Given the description of an element on the screen output the (x, y) to click on. 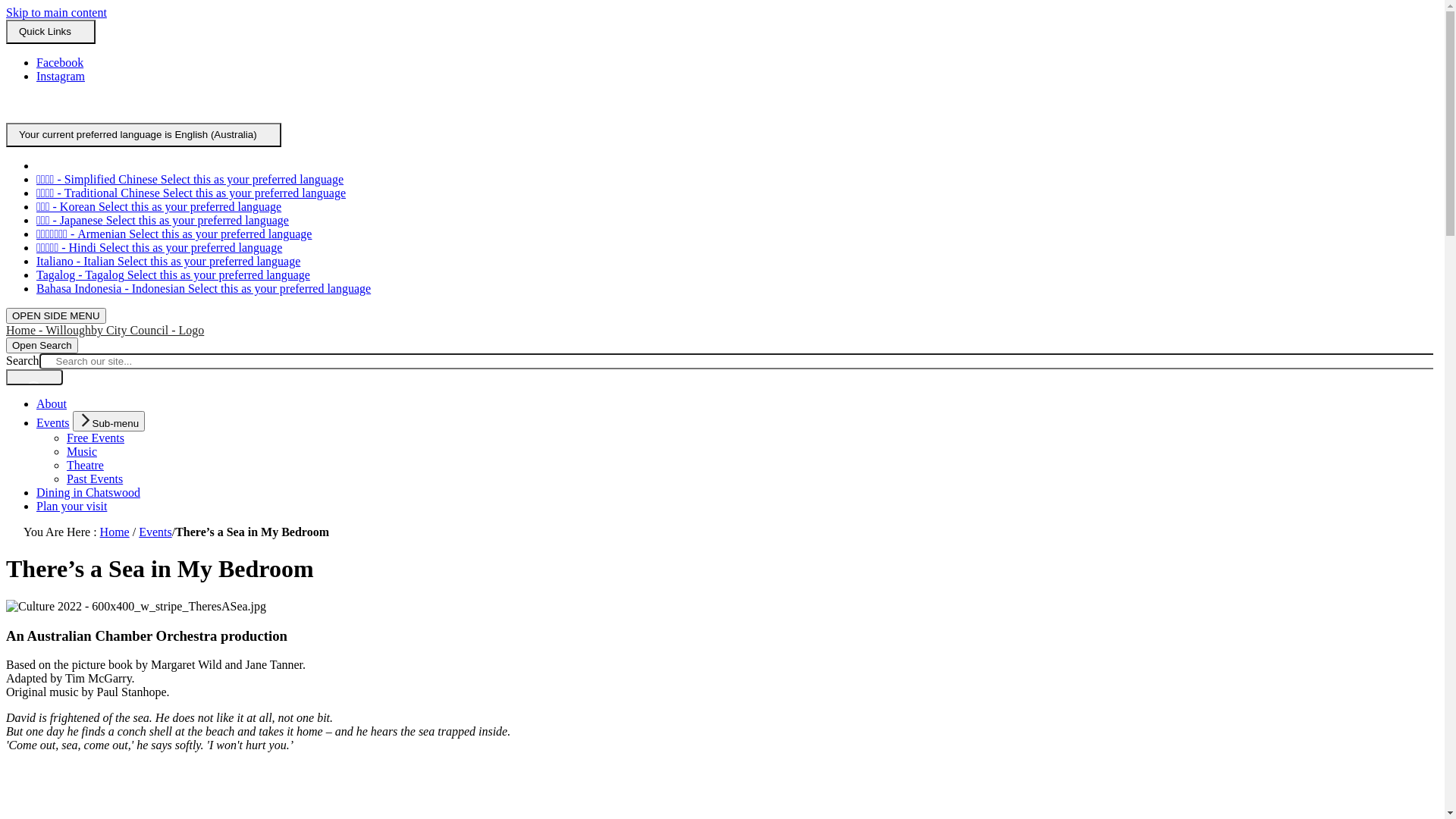
Facebook Element type: text (59, 62)
Free Events Element type: text (95, 437)
Italiano - Italian Select this as your preferred language Element type: text (617, 115)
Tagalog - Tagalog Select this as your preferred language Element type: text (173, 274)
Culture 2022 - 600x400_w_stripe_TheresASea.jpg Element type: hover (136, 606)
Search Element type: text (34, 377)
Home Element type: text (114, 531)
Home - Willoughby City Council - Logo Element type: text (104, 329)
Quick Links Element type: text (50, 31)
OPEN SIDE MENU Element type: text (56, 315)
Dining in Chatswood Element type: text (88, 492)
Italiano - Italian Select this as your preferred language Element type: text (168, 260)
About Element type: text (51, 403)
Tagalog - Tagalog Select this as your preferred language Element type: text (887, 115)
Your current preferred language is English (Australia) Element type: text (143, 134)
English (Australia) Select this as your preferred language Element type: text (145, 101)
Theatre Element type: text (84, 464)
Events Element type: text (52, 422)
Instagram Element type: text (60, 75)
Events Element type: text (155, 531)
Open Search Element type: text (42, 345)
Music Element type: text (81, 451)
Skip to main content Element type: text (56, 12)
Past Events Element type: text (94, 478)
Plan your visit Element type: text (71, 505)
Sub-menu Element type: text (108, 421)
